Given the description of an element on the screen output the (x, y) to click on. 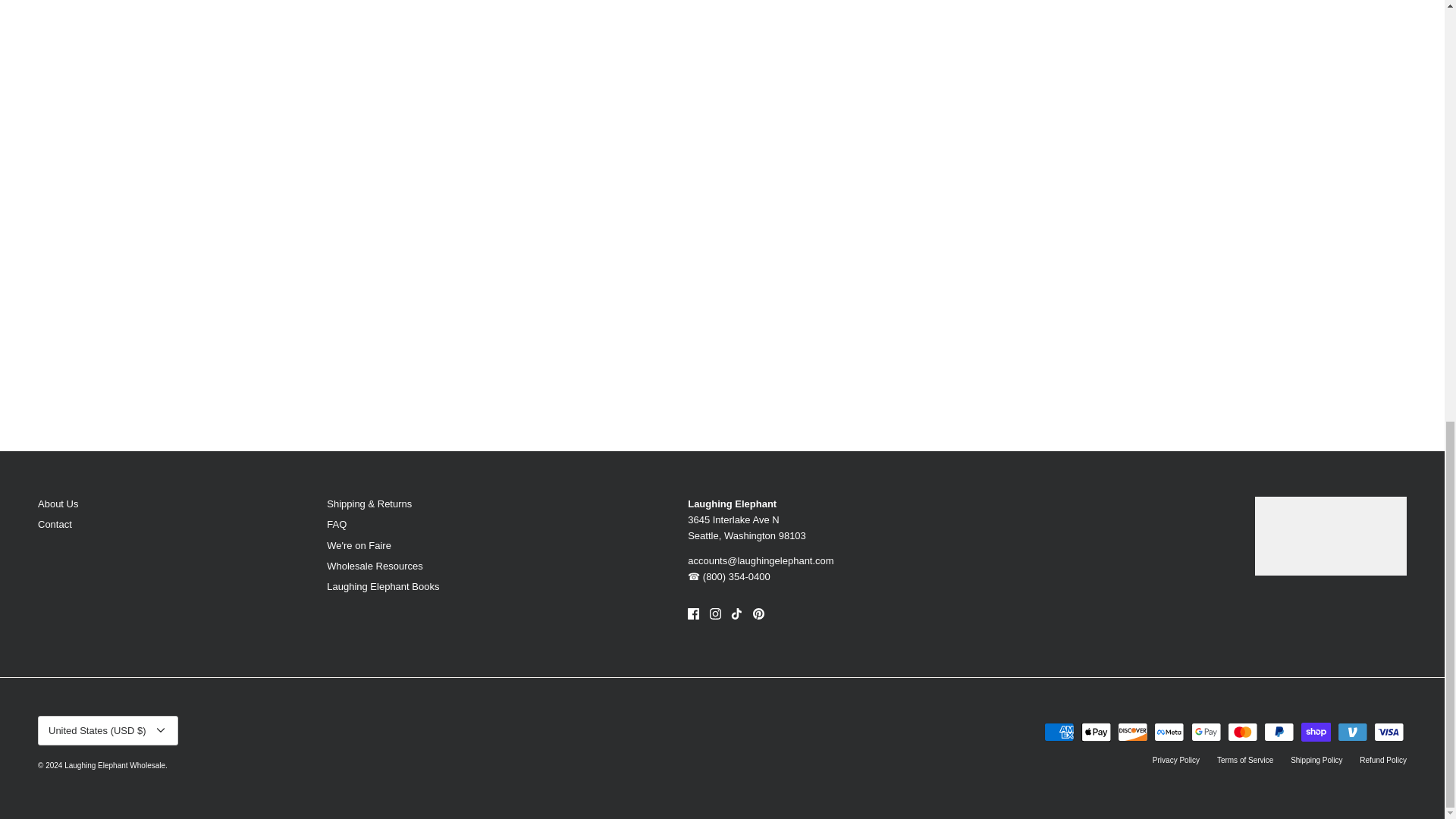
Facebook (692, 613)
Instagram (715, 613)
Pinterest (758, 613)
